Given the description of an element on the screen output the (x, y) to click on. 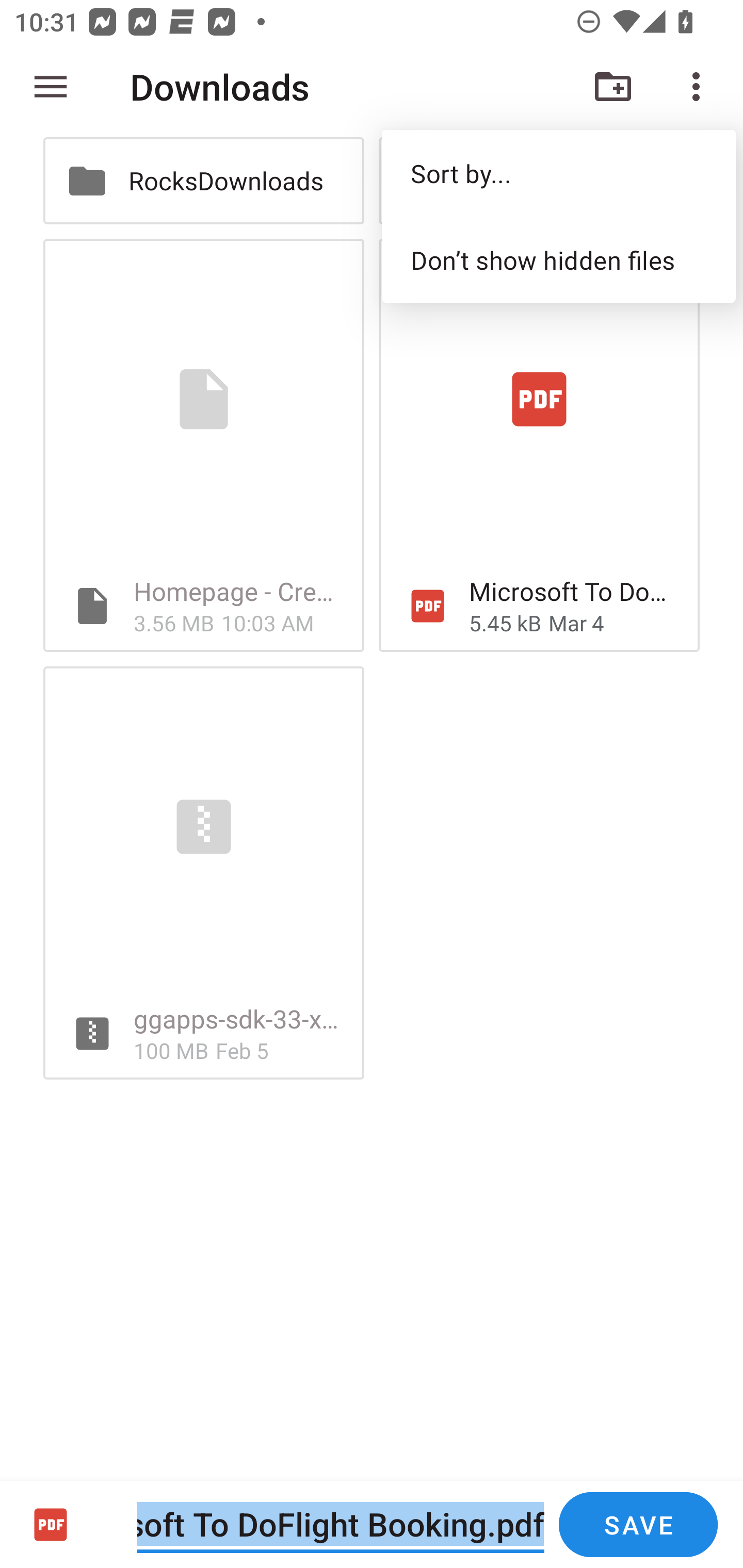
Sort by... (558, 173)
Don’t show hidden files (558, 259)
